Given the description of an element on the screen output the (x, y) to click on. 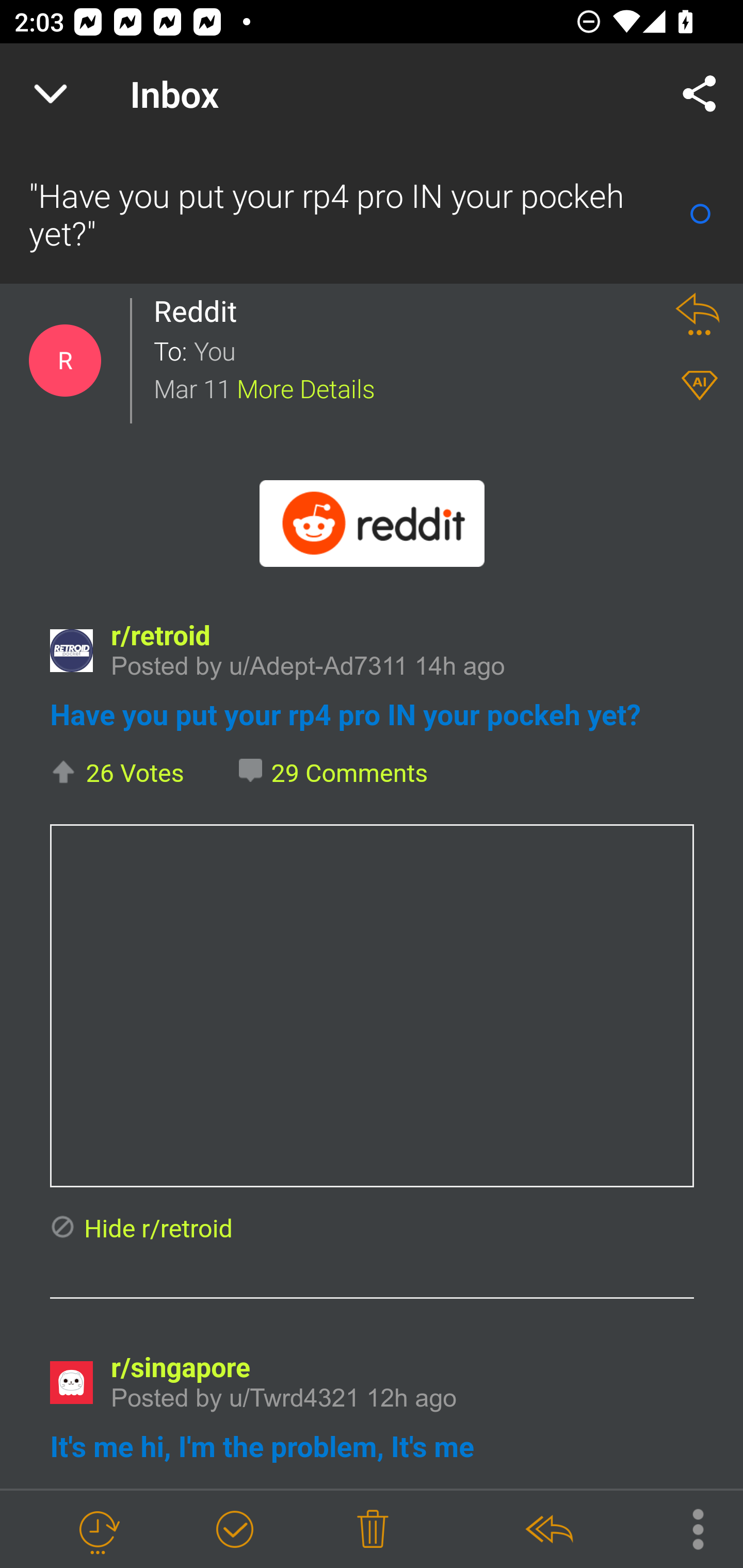
Navigate up (50, 93)
Share (699, 93)
Mark as Read (699, 213)
Reddit (200, 310)
Contact Details (64, 360)
You (422, 349)
More Details (306, 387)
gtjjAhiYBjyKDG7CQG6IbHW46LXCRxJ25vVccMR-EKs=343 (372, 522)
r/retroid (160, 635)
zQgAhtywGFDixG6yHUTU7zvMP1oWM4gpAsCtT1aizdE=343 (70, 650)
Have you put your rp4 pro IN your pockeh yet? (345, 714)
26 Votes (116, 773)
29 Comments (333, 773)
  (371, 1004)
Hide r/retroid (140, 1228)
r/singapore (180, 1368)
9gbSNih2ZT1YlEWMwcZWvc0Mjz9Z6aEgLyok7i25mCc=343 (70, 1383)
It's me hi, I'm the problem, It's me (261, 1448)
More Options (687, 1528)
Snooze (97, 1529)
Mark as Done (234, 1529)
Delete (372, 1529)
Reply All (548, 1529)
